Given the description of an element on the screen output the (x, y) to click on. 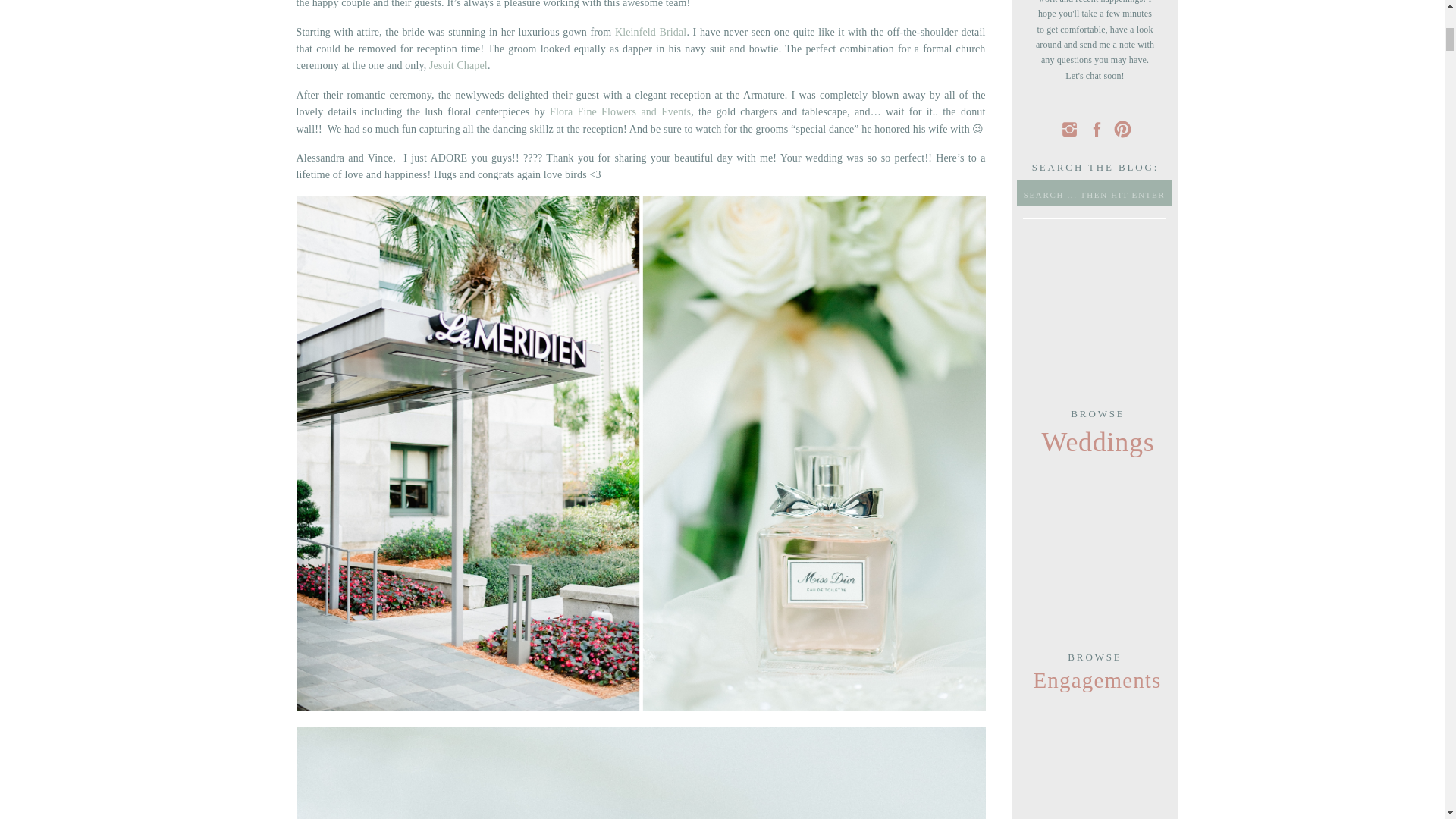
Engagements (1094, 683)
Flora Fine Flowers and Events (620, 111)
Jesuit Chapel (458, 65)
SEARCH THE BLOG: (1094, 166)
Weddings (1097, 443)
BROWSE (1094, 664)
Kleinfeld Bridal (650, 31)
BROWSE (1097, 421)
